Given the description of an element on the screen output the (x, y) to click on. 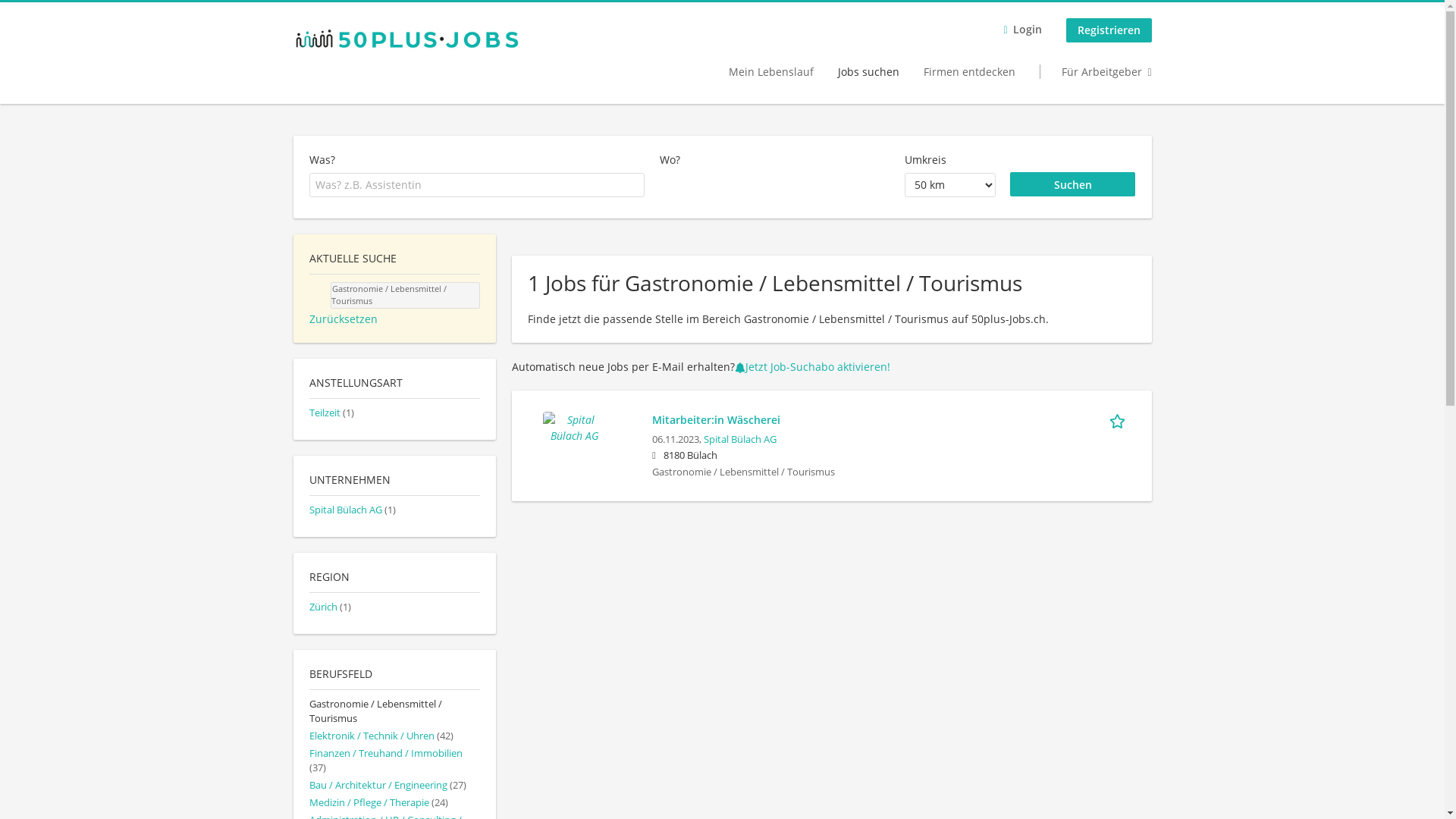
Firmen entdecken Element type: text (969, 70)
Jetzt aktivieren Element type: text (698, 561)
Elektronik / Technik / Uhren (42) Element type: text (381, 735)
Teilzeit (1) Element type: text (331, 412)
Jobs suchen Element type: text (868, 70)
Bau / Architektur / Engineering (27) Element type: text (387, 784)
Job merken Element type: hover (1118, 418)
Jetzt Job-Suchabo aktivieren! Element type: text (812, 366)
Finanzen / Treuhand / Immobilien (37) Element type: text (385, 760)
Medizin / Pflege / Therapie (24) Element type: text (378, 802)
50plus-jobs.ch Element type: hover (406, 37)
Suchen Element type: text (1072, 184)
Registrieren Element type: text (1108, 30)
Mein Lebenslauf Element type: text (770, 70)
Login Element type: text (1021, 30)
